Given the description of an element on the screen output the (x, y) to click on. 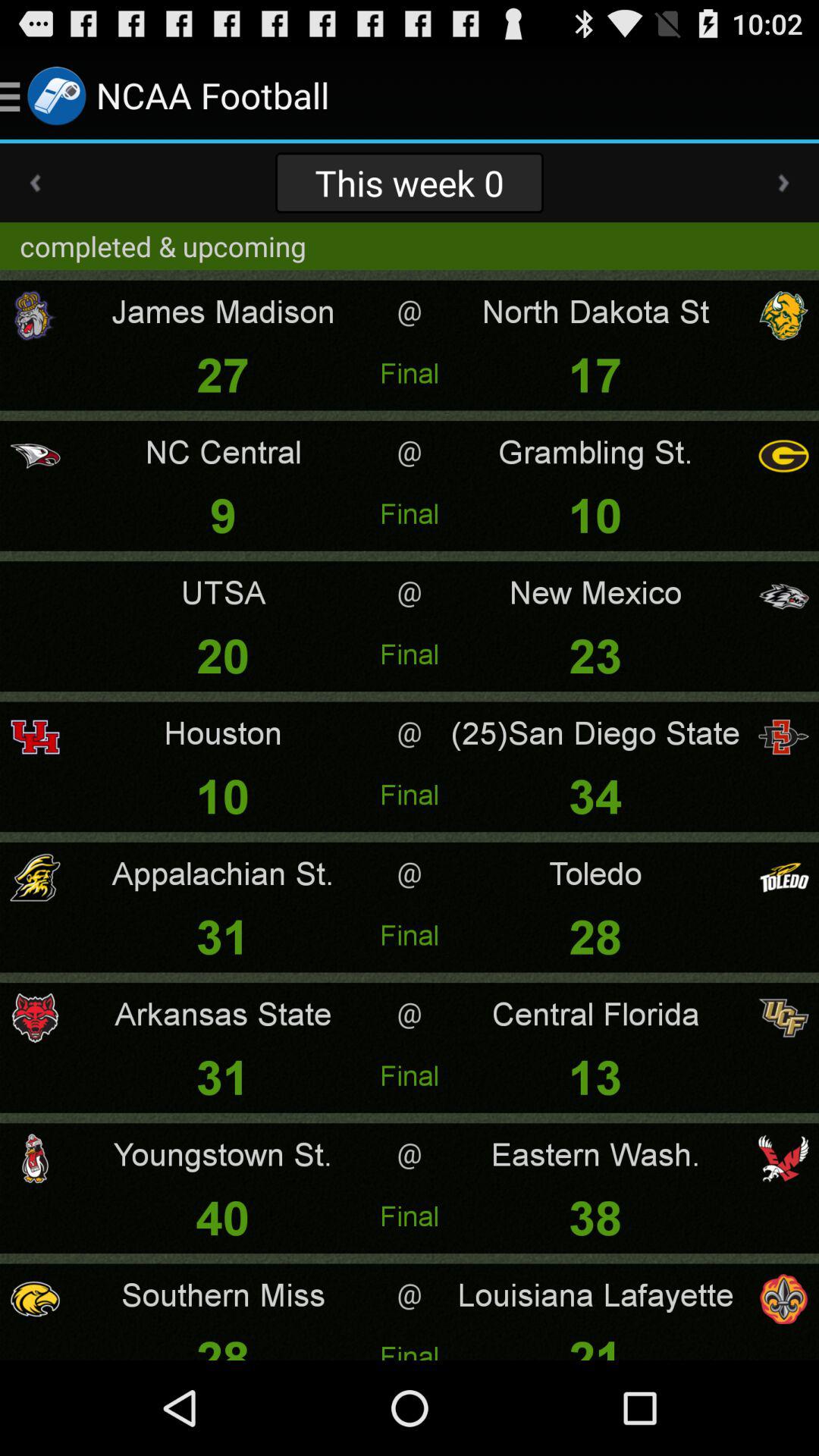
open the app to the left of this week 0 app (35, 182)
